Given the description of an element on the screen output the (x, y) to click on. 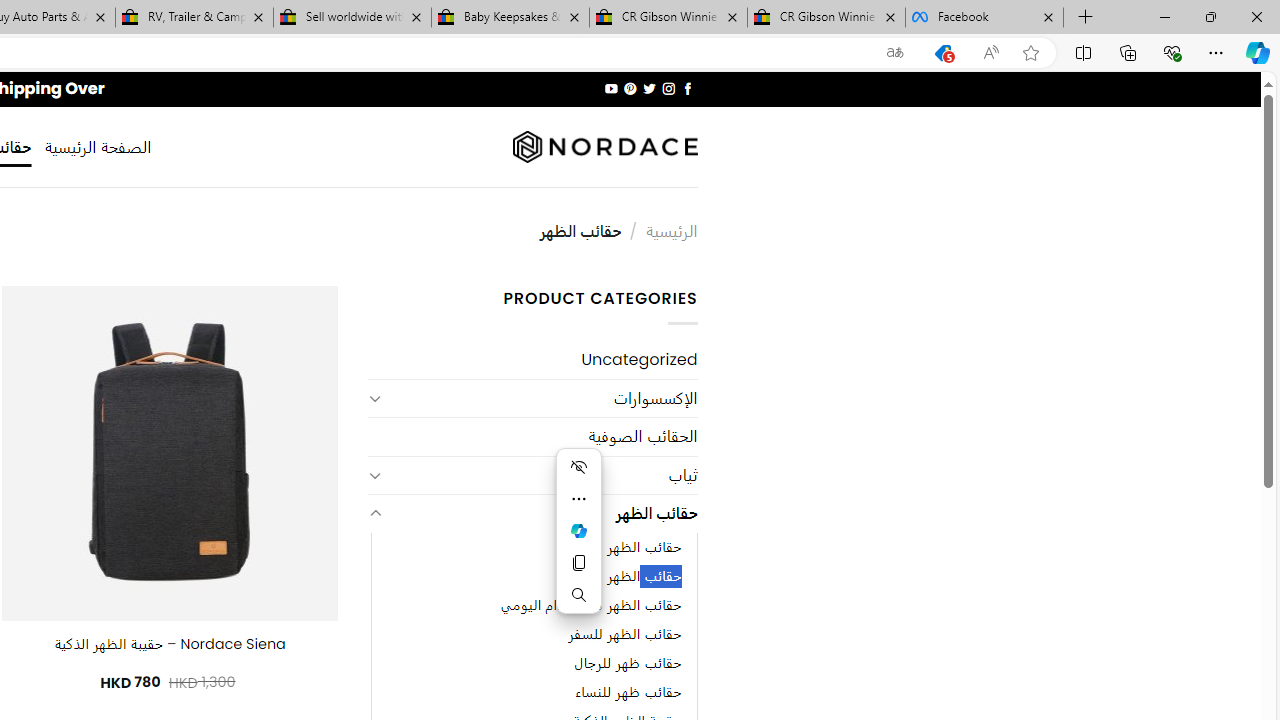
Follow on Pinterest (630, 88)
Facebook (984, 17)
Uncategorized (532, 359)
This site has coupons! Shopping in Microsoft Edge, 5 (943, 53)
Follow on Facebook (686, 88)
